Given the description of an element on the screen output the (x, y) to click on. 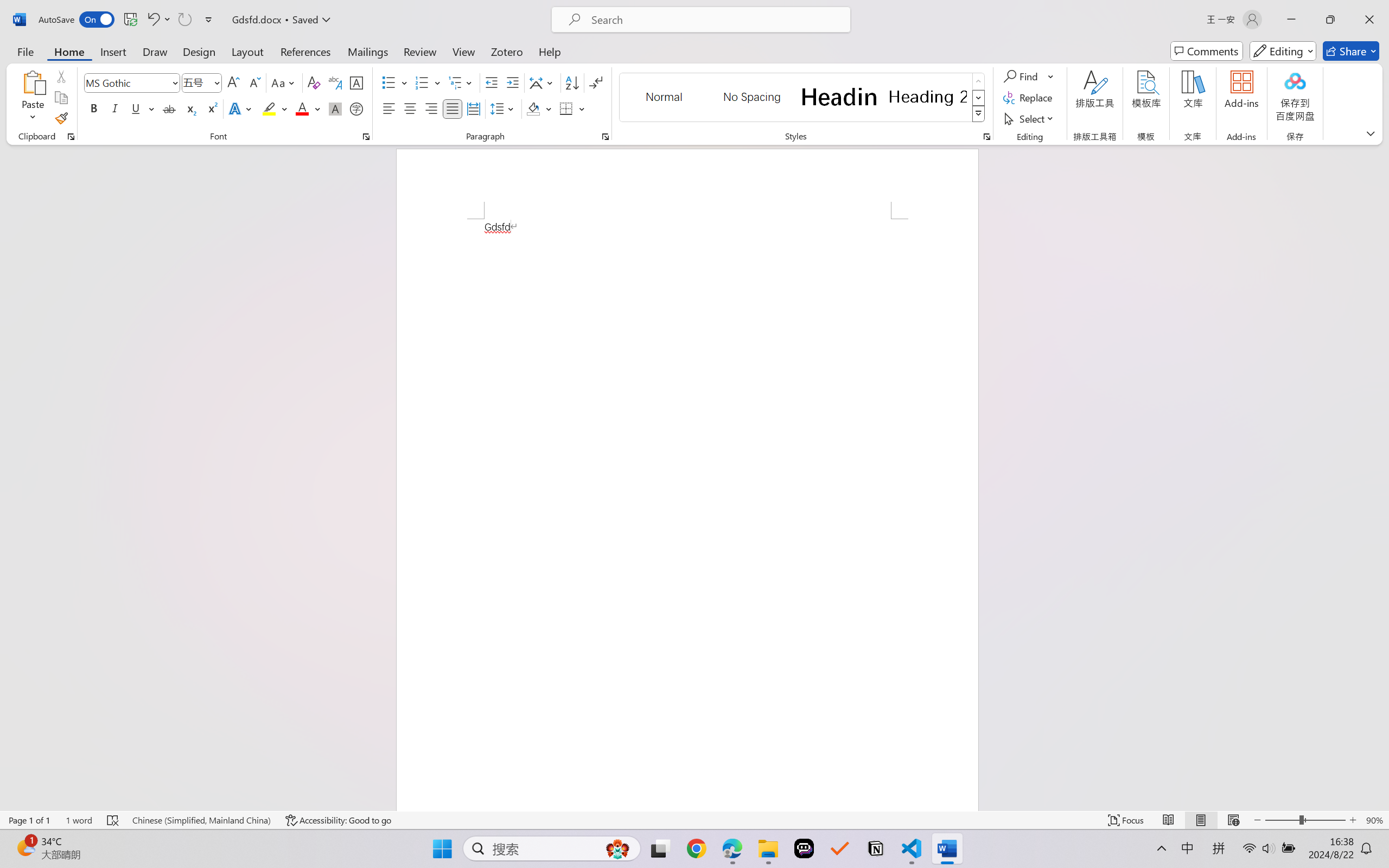
Spelling and Grammar Check Errors (113, 819)
Shading (539, 108)
Class: NetUIScrollBar (1382, 477)
Language Chinese (Simplified, Mainland China) (201, 819)
